Given the description of an element on the screen output the (x, y) to click on. 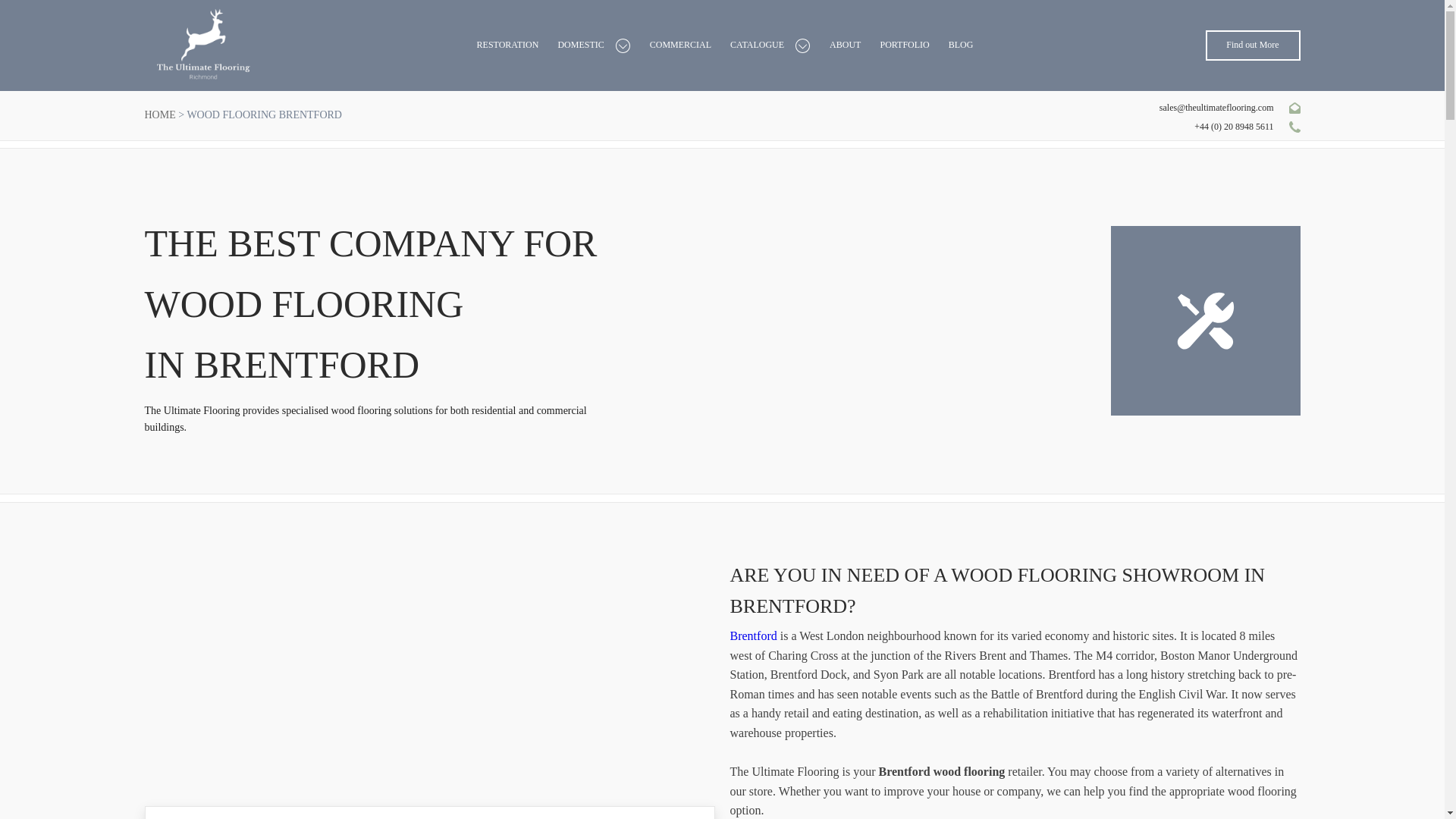
ABOUT (844, 44)
CATALOGUE (757, 44)
DOMESTIC (580, 44)
PORTFOLIO (903, 44)
Find out More (1252, 45)
HOME (159, 114)
BLOG (961, 44)
COMMERCIAL (680, 44)
RESTORATION (507, 44)
